Given the description of an element on the screen output the (x, y) to click on. 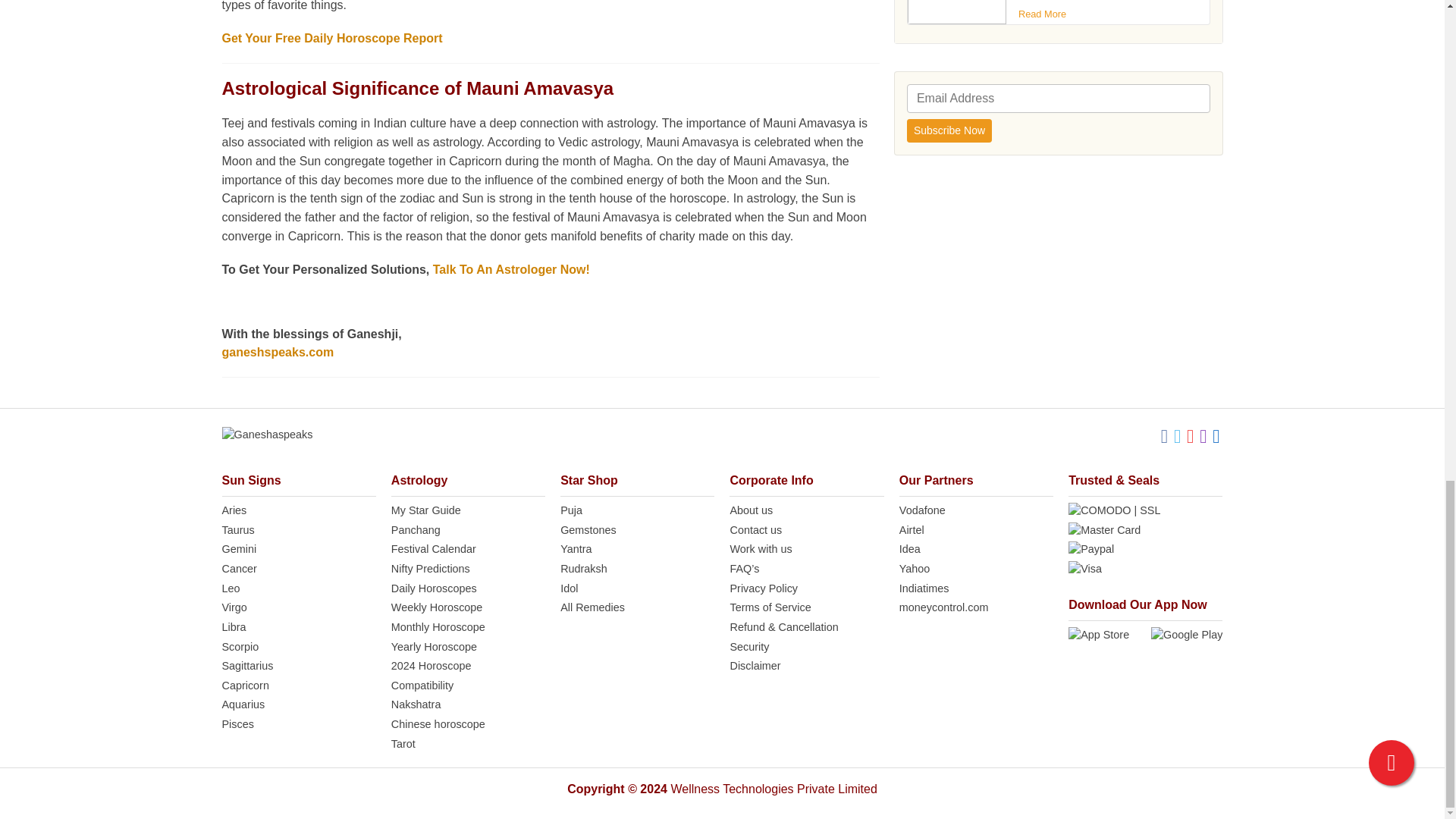
Taurus (298, 530)
Aries (298, 510)
Sagittarius (298, 666)
Virgo (298, 607)
Scorpio (298, 647)
Ganeshaspeaks (267, 434)
Libra (298, 627)
Leo (298, 588)
Capricorn (298, 686)
Cancer (298, 569)
